Given the description of an element on the screen output the (x, y) to click on. 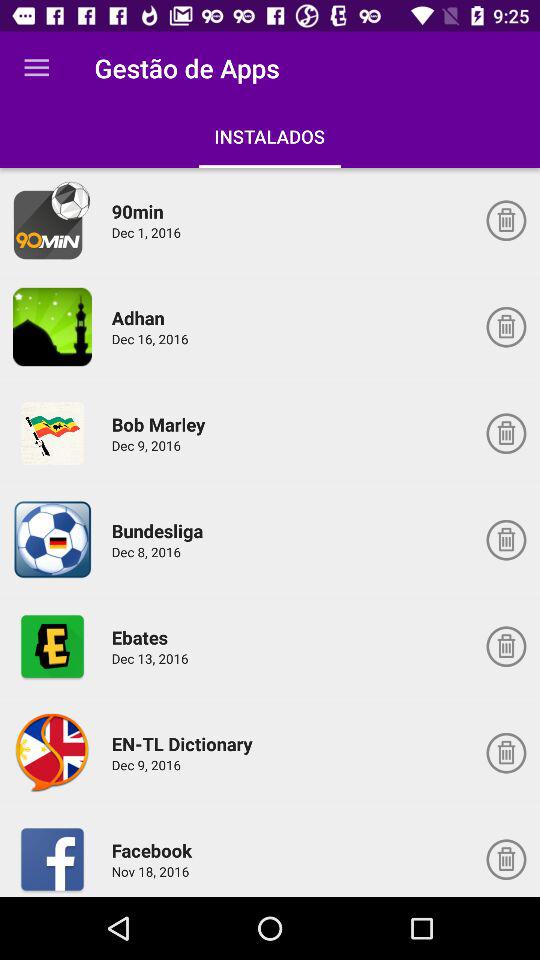
go to app (52, 752)
